Given the description of an element on the screen output the (x, y) to click on. 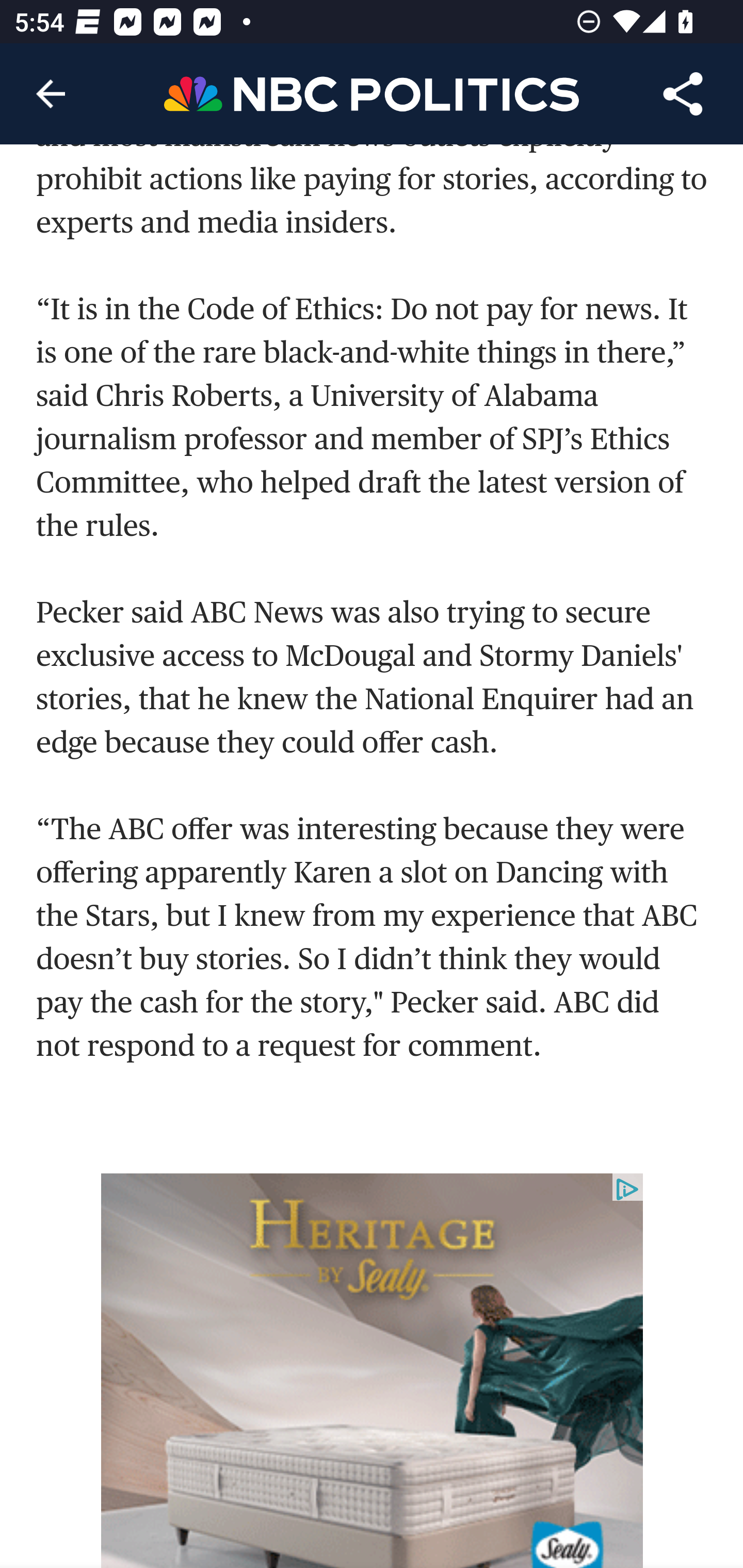
Navigate up (50, 93)
Share Article, button (683, 94)
Header, NBC Politics (371, 93)
adchoices (626, 1190)
